Given the description of an element on the screen output the (x, y) to click on. 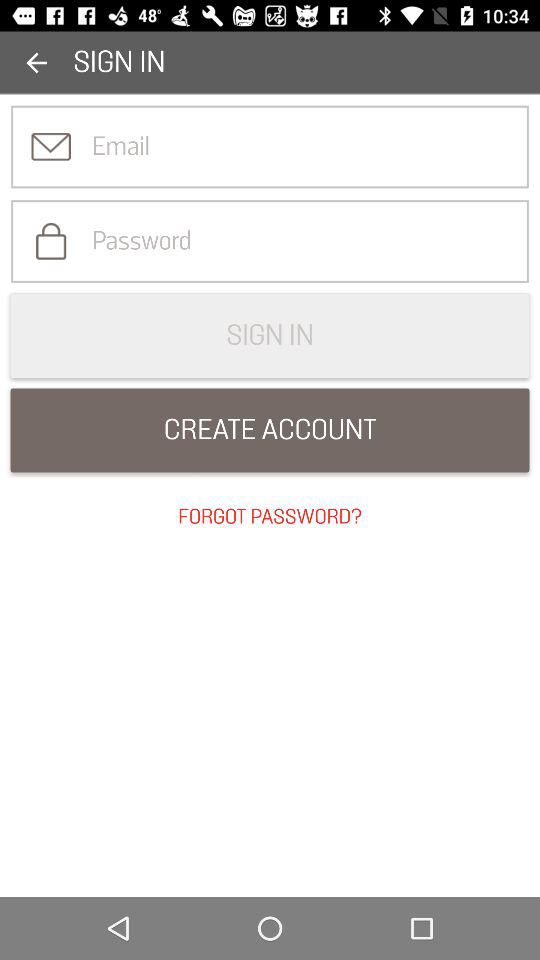
click icon next to sign in item (36, 62)
